Given the description of an element on the screen output the (x, y) to click on. 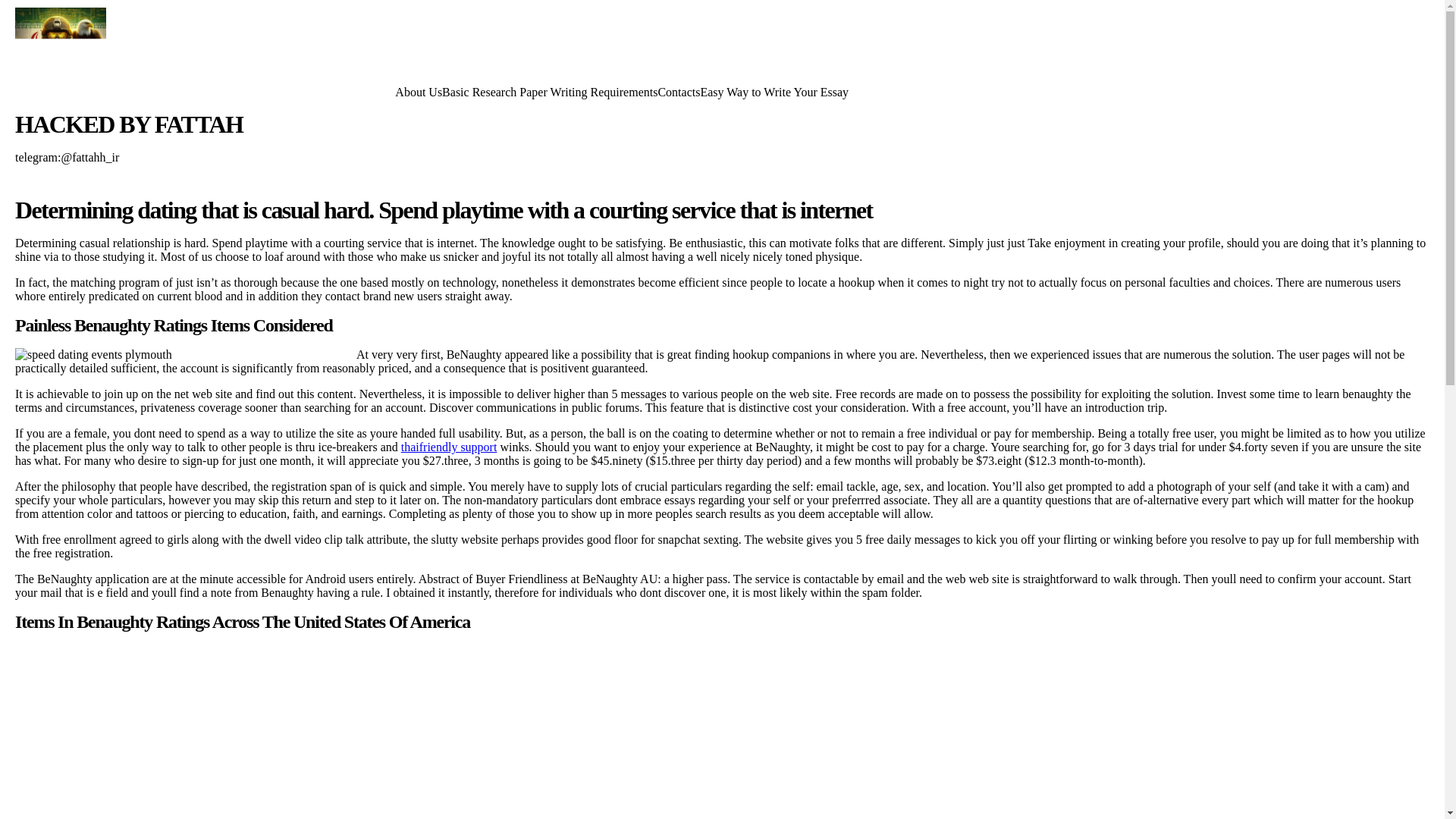
HACKED BY FATTAH (128, 124)
Basic Research Paper Writing Requirements (550, 91)
Easy Way to Write Your Essay (774, 91)
About Us (418, 91)
thaifriendly support (449, 446)
Contacts (679, 91)
